Given the description of an element on the screen output the (x, y) to click on. 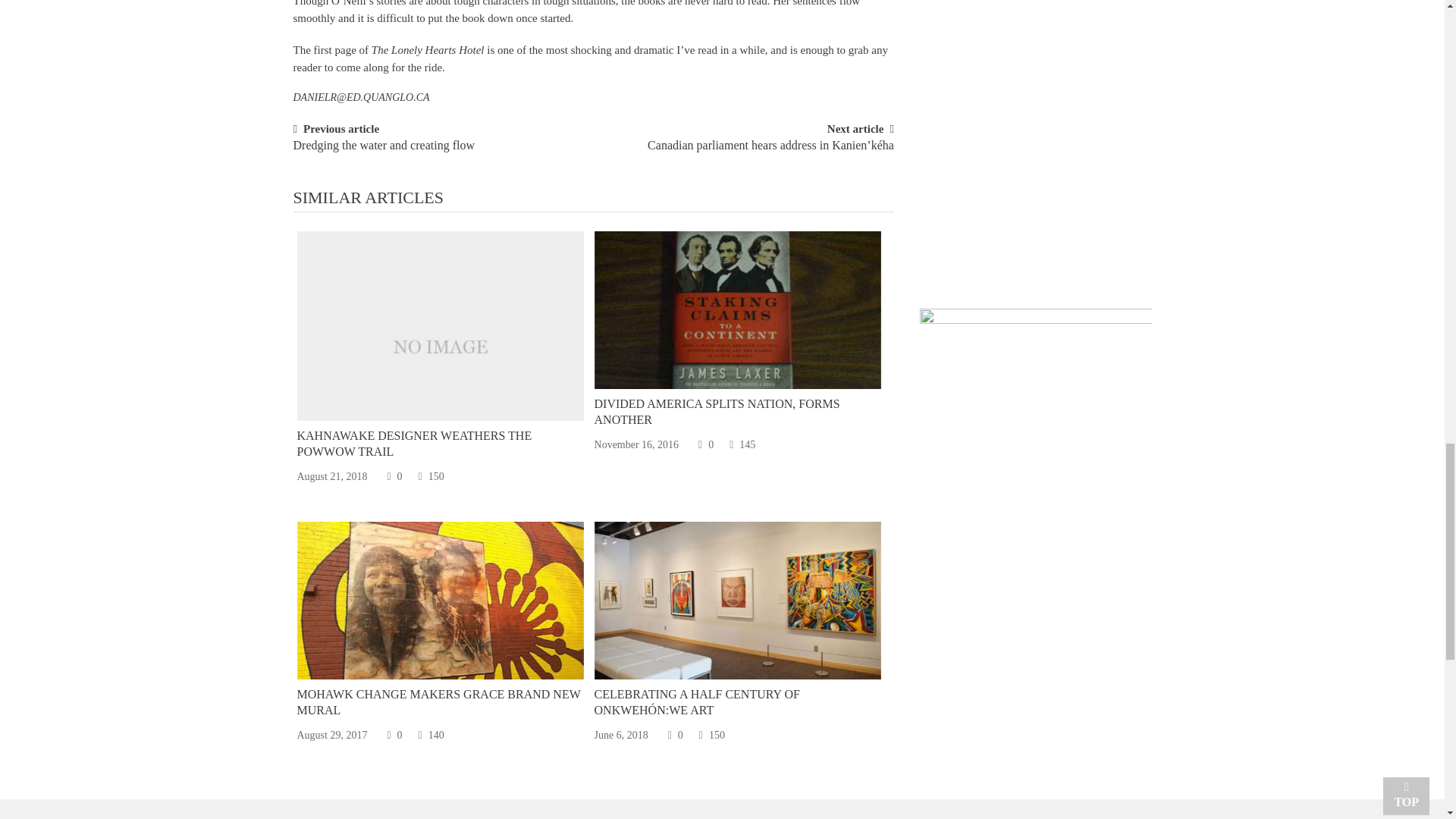
Mohawk change makers grace brand new mural (440, 600)
Kahnawake designer weathers the powwow trail (440, 345)
Divided America splits nation, forms another (737, 309)
Divided America splits nation, forms another (737, 309)
Mohawk change makers grace brand new mural (440, 599)
MOHAWK CHANGE MAKERS GRACE BRAND NEW MURAL (438, 701)
KAHNAWAKE DESIGNER WEATHERS THE POWWOW TRAIL (414, 443)
Kahnawake designer weathers the powwow trail (440, 325)
August 29, 2017 (332, 735)
November 16, 2016 (636, 444)
